Given the description of an element on the screen output the (x, y) to click on. 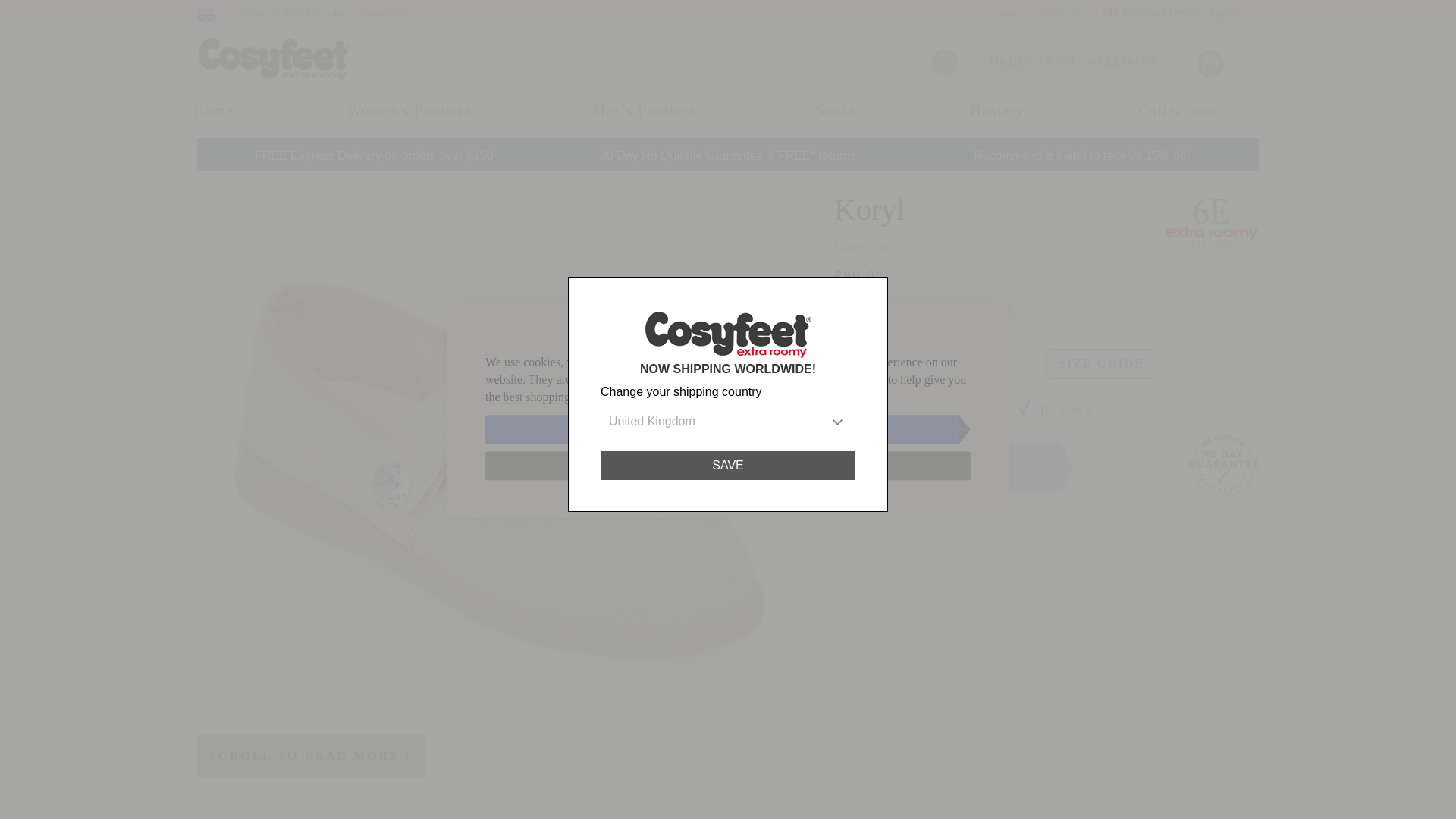
COOKIE SETTINGS (727, 465)
ACCEPT COOKIES (721, 428)
Help (1008, 13)
ORDER FROM CATALOGUE (1071, 61)
Read more (701, 396)
Women's Footwear (413, 110)
Cosyfeet extra roomy (274, 58)
Contact Us (385, 13)
About Us (1061, 13)
Sign In (1226, 13)
Contact Us (385, 13)
1 (933, 409)
SCROLL TO READ MORE (310, 755)
Save (727, 465)
